Given the description of an element on the screen output the (x, y) to click on. 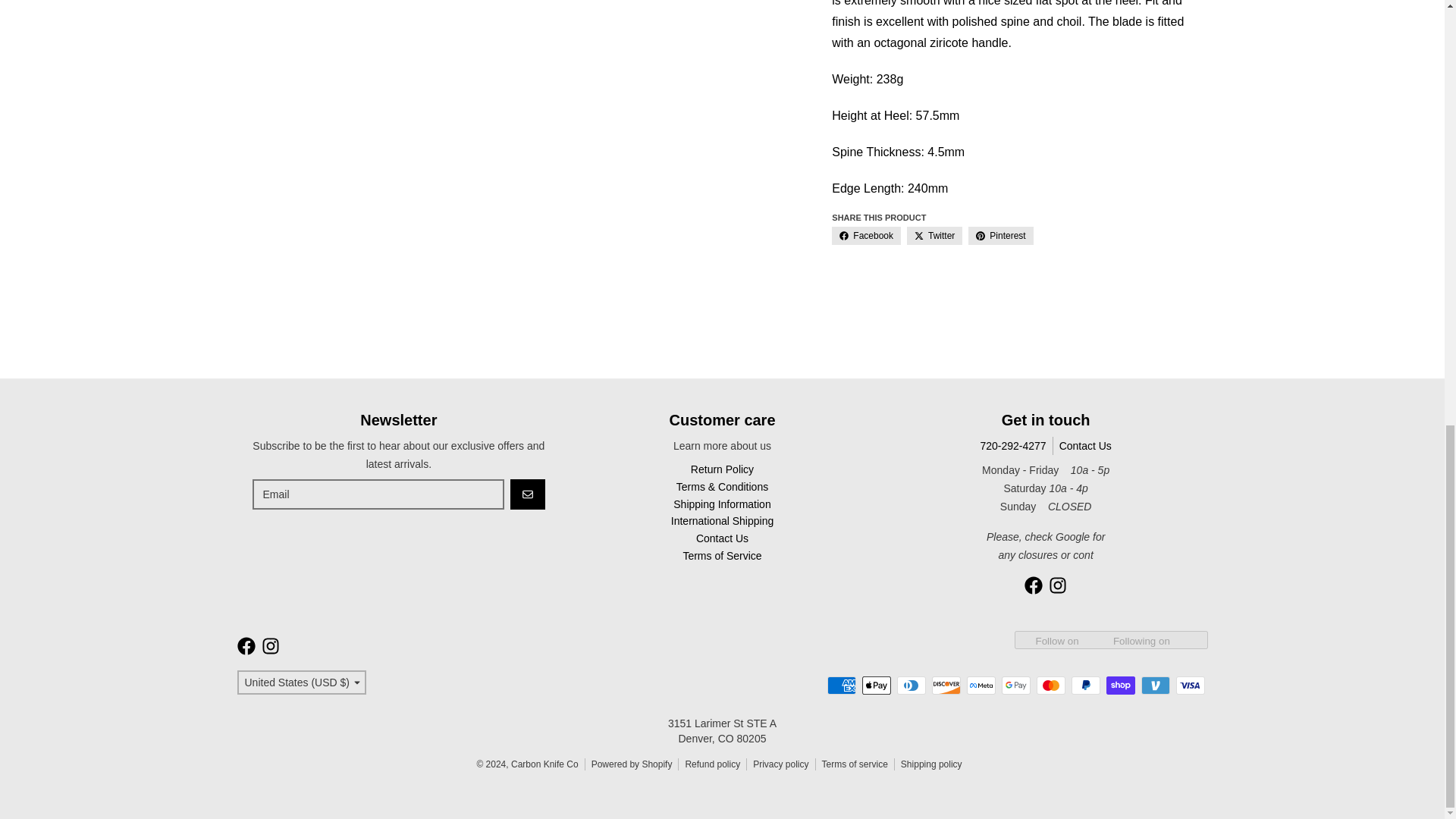
Facebook - Carbon Knife Co (1033, 585)
Facebook - Carbon Knife Co (244, 646)
Instagram - Carbon Knife Co (269, 646)
Instagram - Carbon Knife Co (1057, 585)
